Given the description of an element on the screen output the (x, y) to click on. 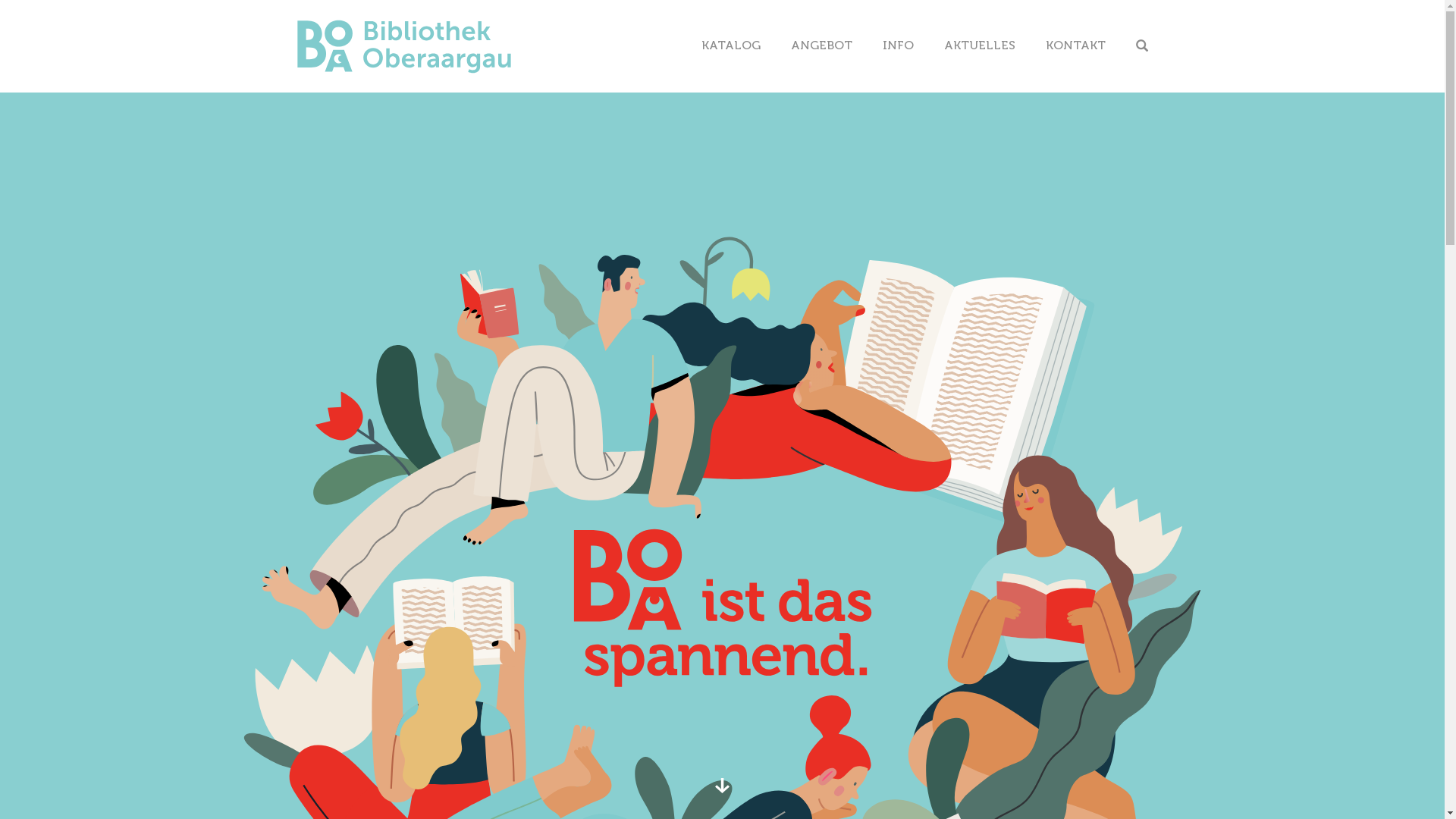
KATALOG Element type: text (730, 45)
Go! Element type: text (1219, 102)
ANGEBOT Element type: text (820, 45)
KONTAKT Element type: text (1074, 45)
INFO Element type: text (897, 45)
AKTUELLES Element type: text (978, 45)
  Element type: text (1143, 45)
